Given the description of an element on the screen output the (x, y) to click on. 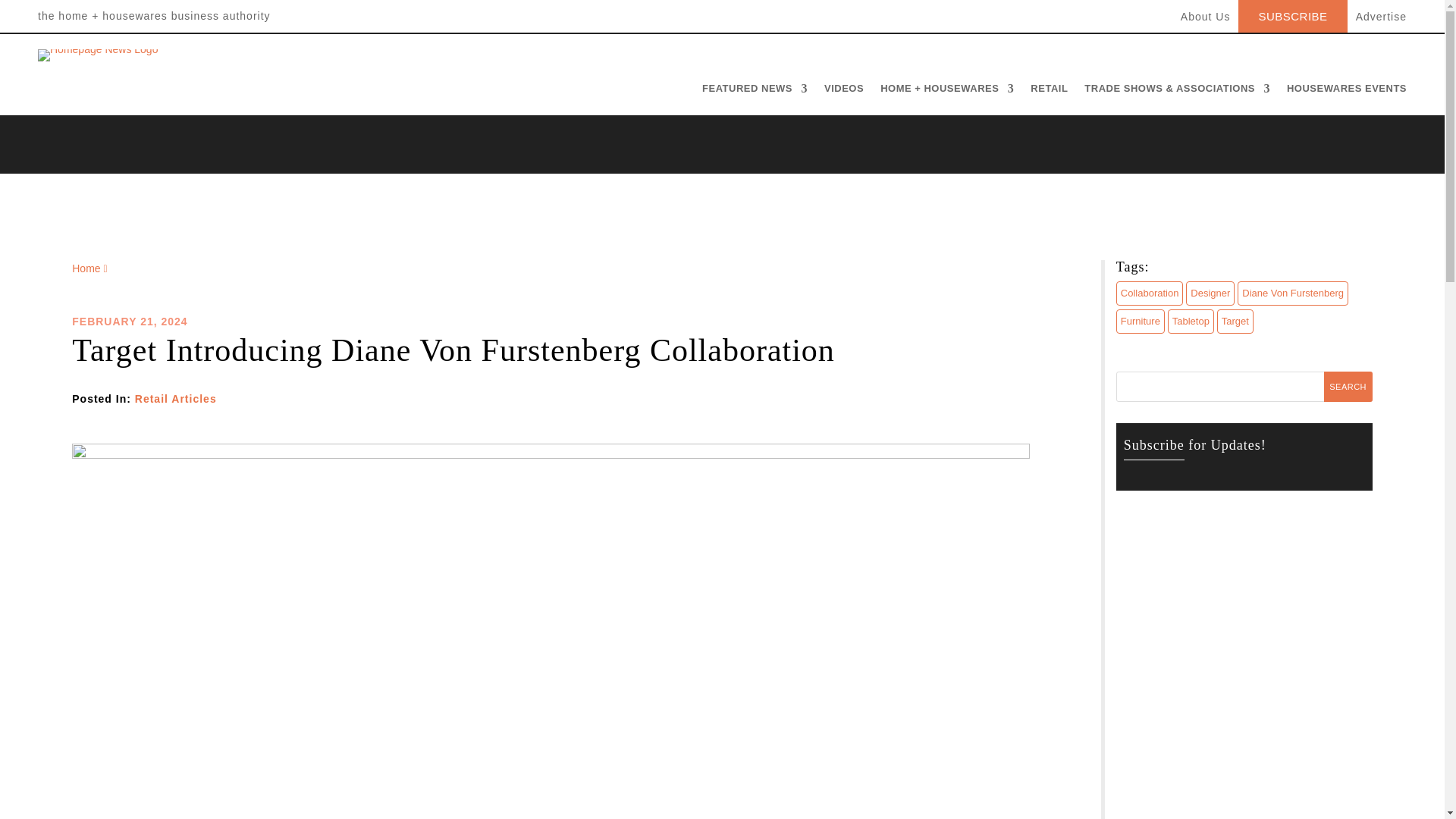
VIDEOS (843, 91)
SUBSCRIBE (1292, 13)
FEATURED NEWS (754, 91)
Designer (1210, 293)
HOUSEWARES EVENTS (1346, 91)
About Us (1205, 21)
Diane Von Furstenberg (1292, 293)
Search (1348, 386)
Collaboration (1149, 293)
Advertise (1380, 21)
RETAIL (1048, 91)
Home (88, 268)
Retail Articles (175, 398)
